Given the description of an element on the screen output the (x, y) to click on. 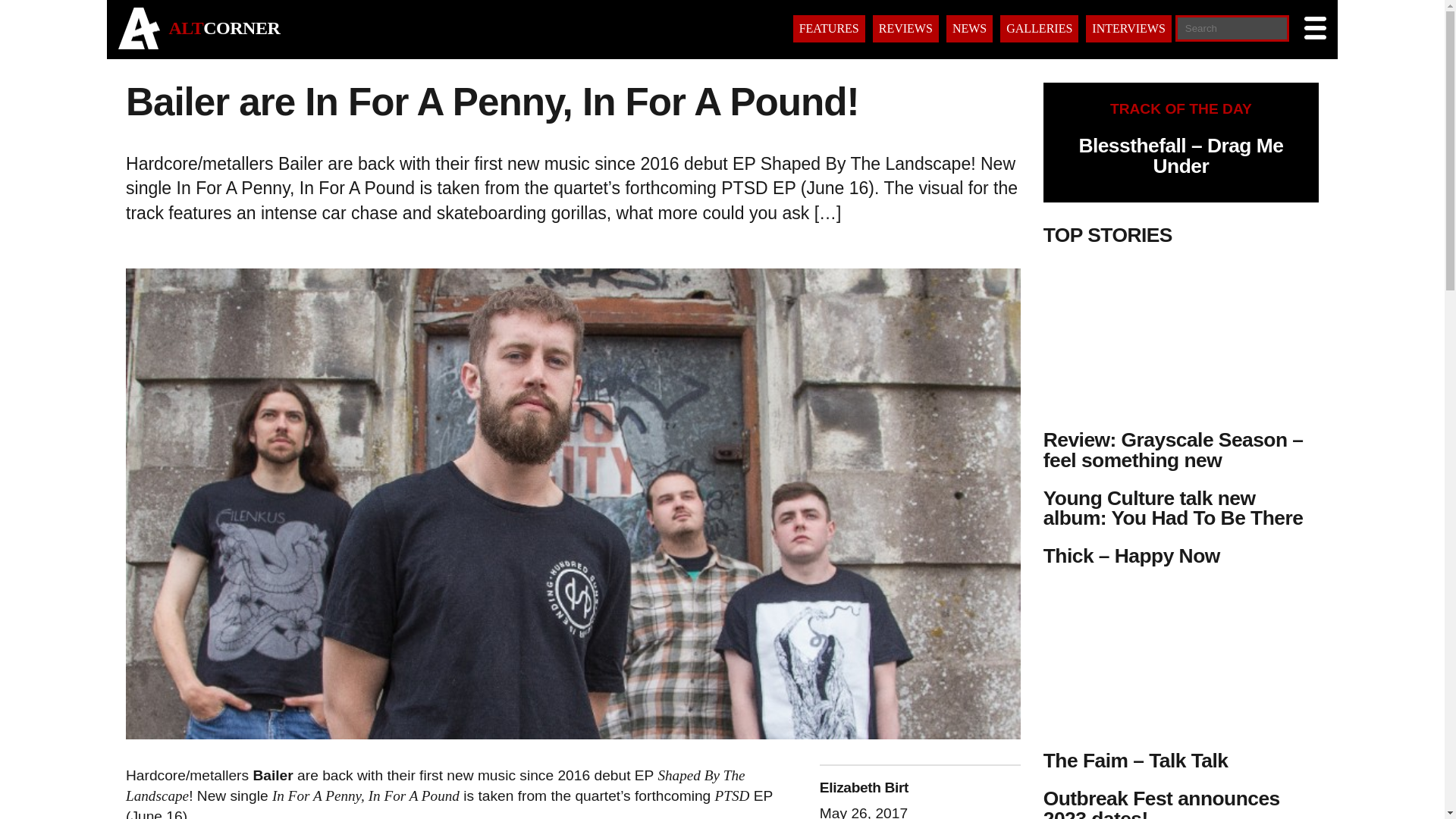
NEWS (969, 28)
ALTCORNER (223, 27)
Search (94, 809)
REVIEWS (906, 28)
ALTCORNER.com (223, 27)
Search (56, 13)
TRACK OF THE DAY (1180, 108)
ALTCORNER.com (138, 44)
FEATURES (829, 28)
GALLERIES (1038, 28)
